Given the description of an element on the screen output the (x, y) to click on. 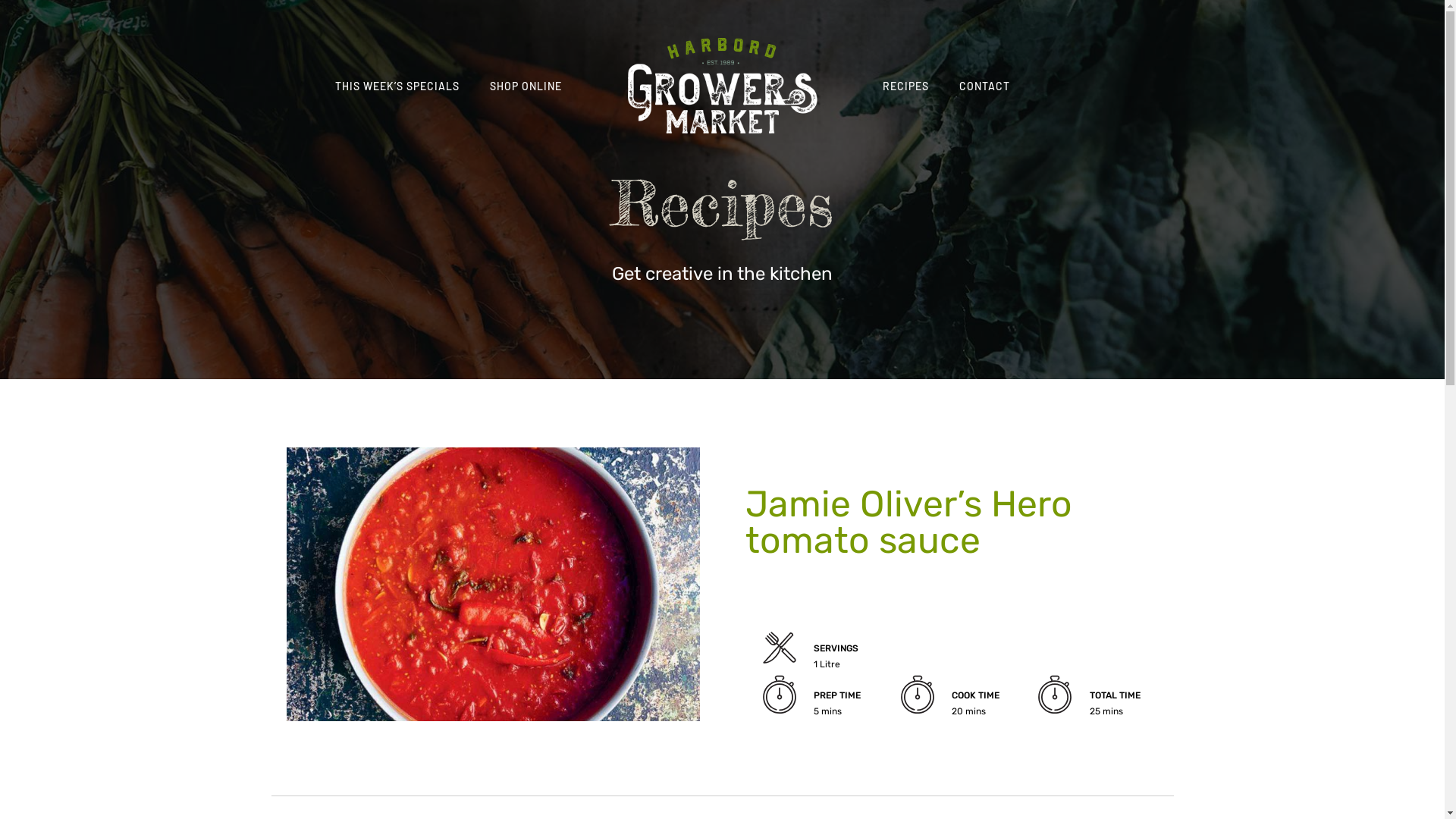
SHOP ONLINE Element type: text (525, 86)
RECIPES Element type: text (905, 86)
CONTACT Element type: text (984, 86)
